Given the description of an element on the screen output the (x, y) to click on. 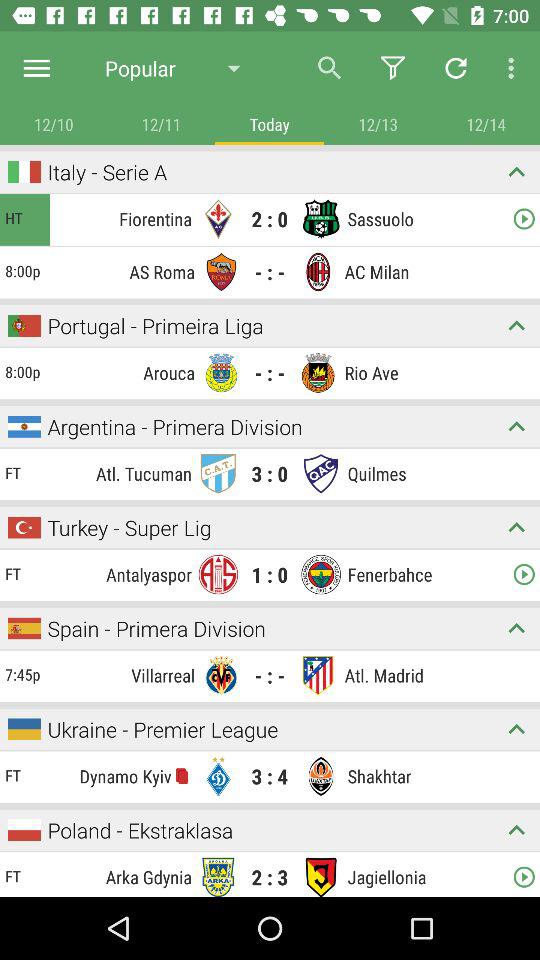
show menu (36, 68)
